Given the description of an element on the screen output the (x, y) to click on. 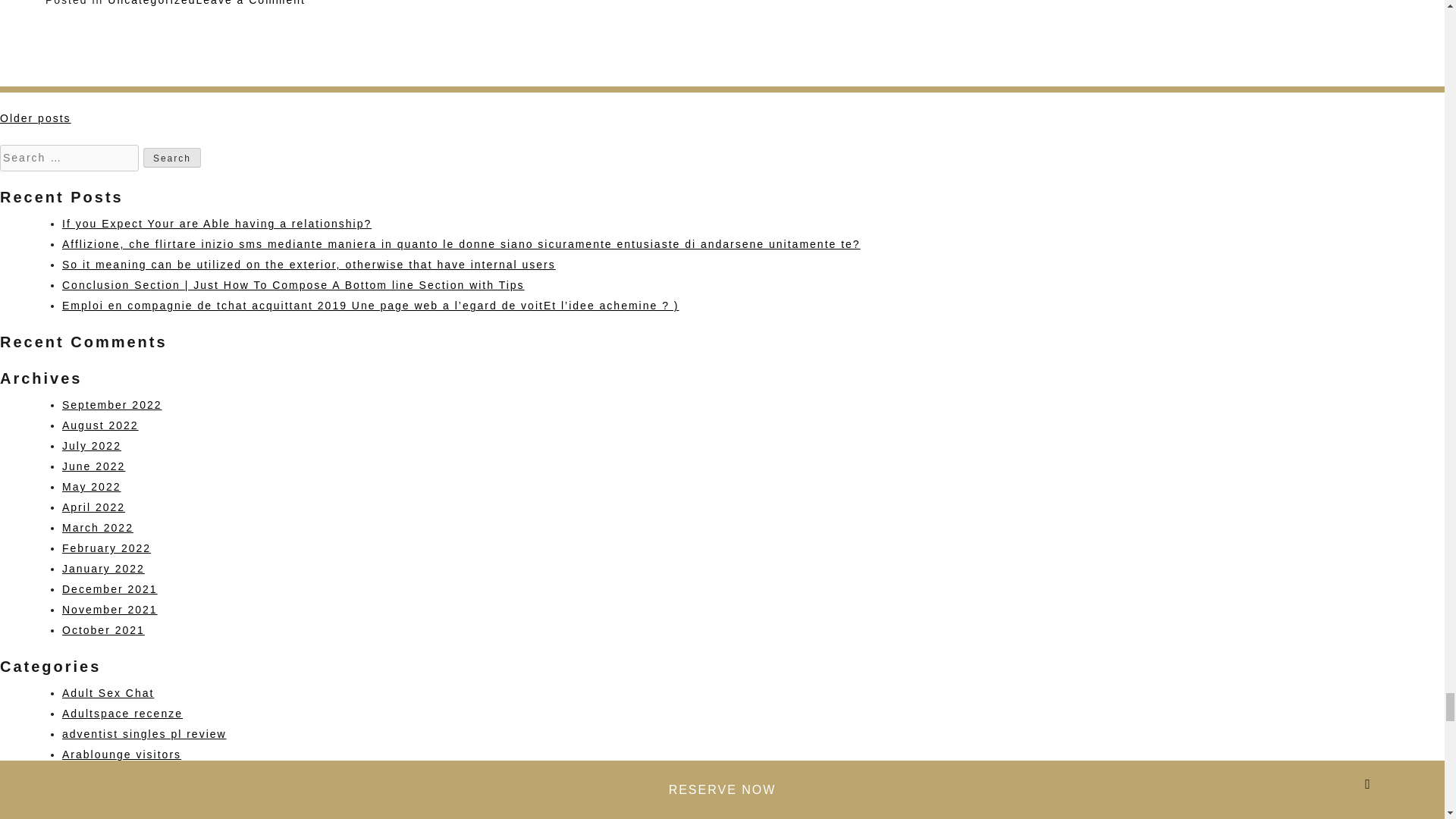
Search (171, 157)
Search (171, 157)
